Given the description of an element on the screen output the (x, y) to click on. 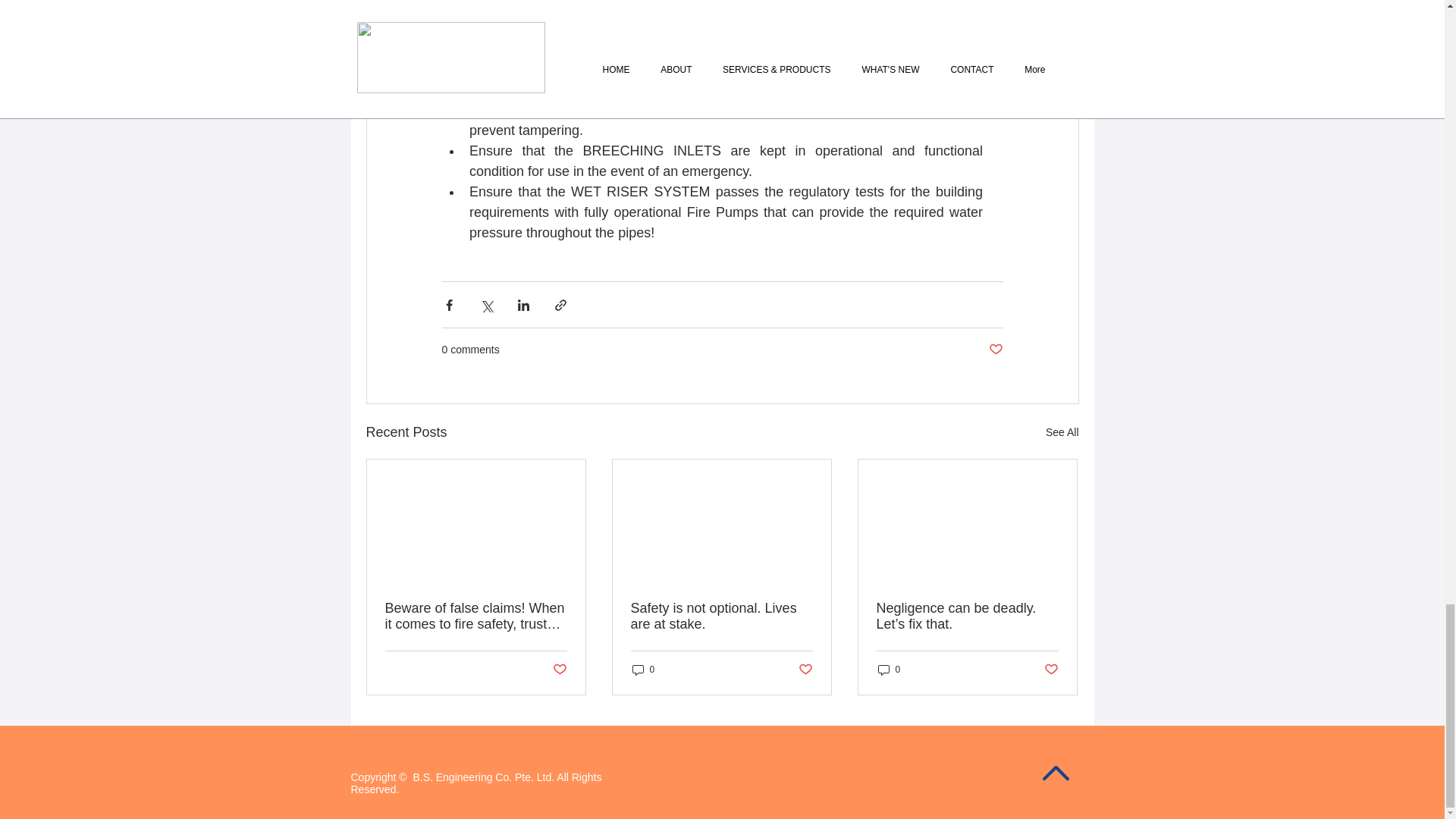
Post not marked as liked (558, 669)
Post not marked as liked (1050, 669)
Post not marked as liked (804, 669)
0 (889, 668)
See All (1061, 432)
Safety is not optional. Lives are at stake. (721, 616)
Post not marked as liked (995, 349)
0 (643, 668)
